Given the description of an element on the screen output the (x, y) to click on. 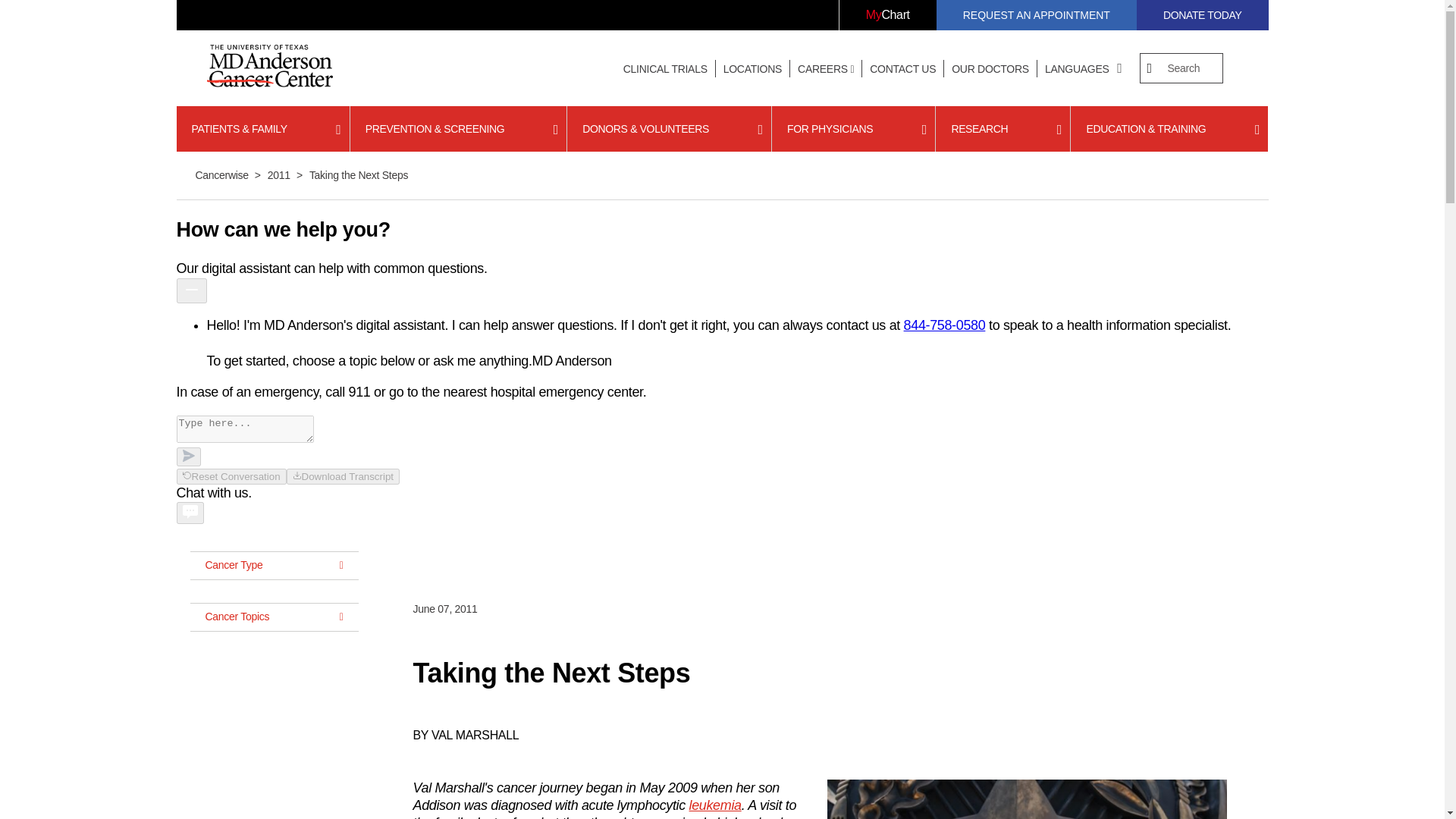
CONTACT US (902, 69)
OUR DOCTORS (989, 69)
CLINICAL TRIALS (664, 69)
CAREERS (825, 69)
MyChart (888, 15)
LOCATIONS (752, 69)
 Opens a new window (888, 15)
